Given the description of an element on the screen output the (x, y) to click on. 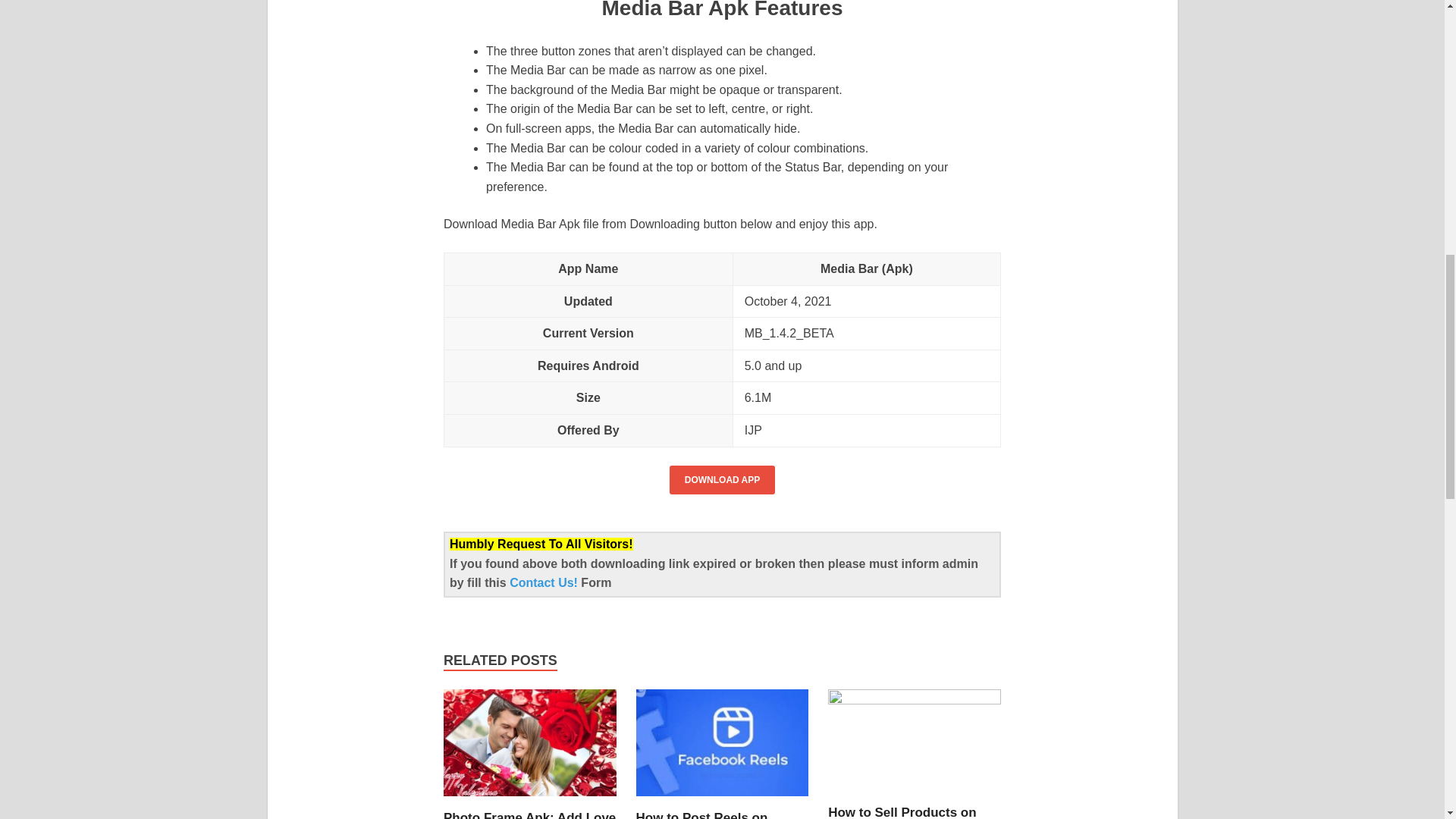
How to Sell Products on Instagram? (914, 699)
Contact Us! (544, 582)
DOWNLOAD APP (722, 480)
How to Sell Products on Instagram? (902, 812)
How to Sell Products on Instagram? (902, 812)
